Given the description of an element on the screen output the (x, y) to click on. 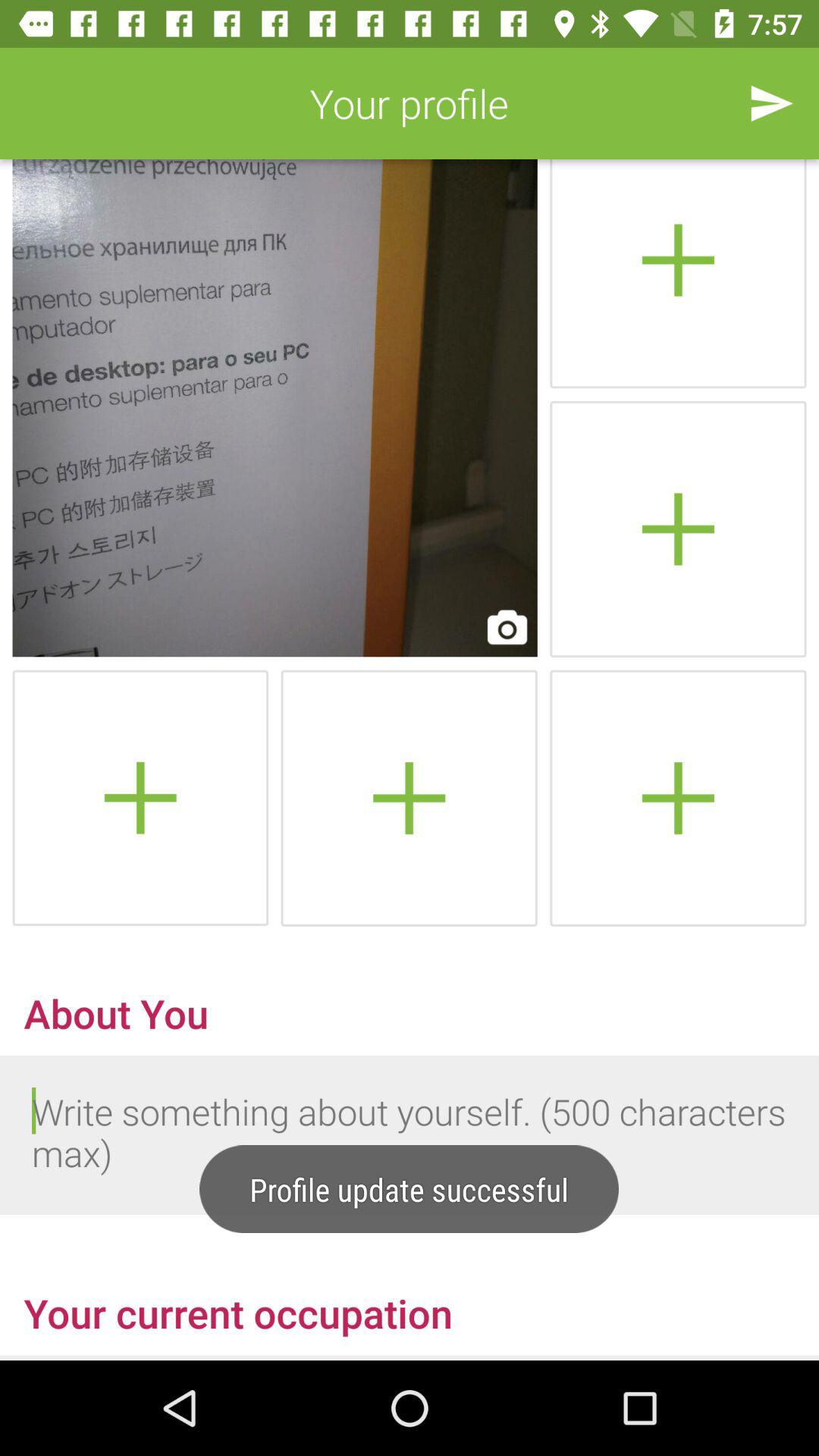
write entry (409, 1134)
